Given the description of an element on the screen output the (x, y) to click on. 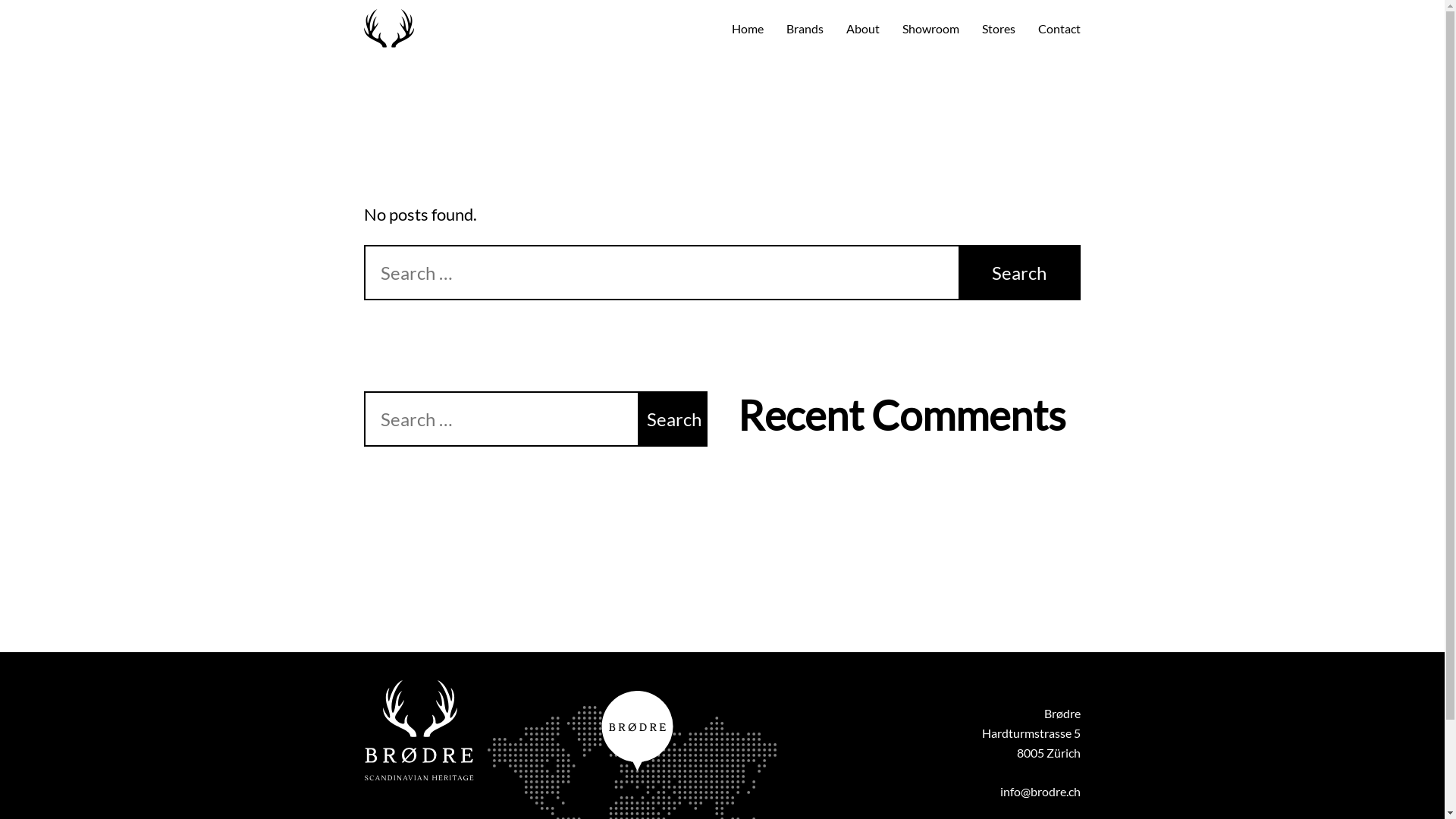
Search Element type: text (671, 418)
Showroom Element type: text (930, 28)
About Element type: text (862, 28)
Search Element type: text (1018, 272)
Home Element type: text (747, 28)
Contact Element type: text (1059, 28)
Brands Element type: text (804, 28)
Stores Element type: text (998, 28)
Search for: Element type: hover (603, 272)
info@brodre.ch Element type: text (1040, 791)
Search for: Element type: hover (475, 418)
